Given the description of an element on the screen output the (x, y) to click on. 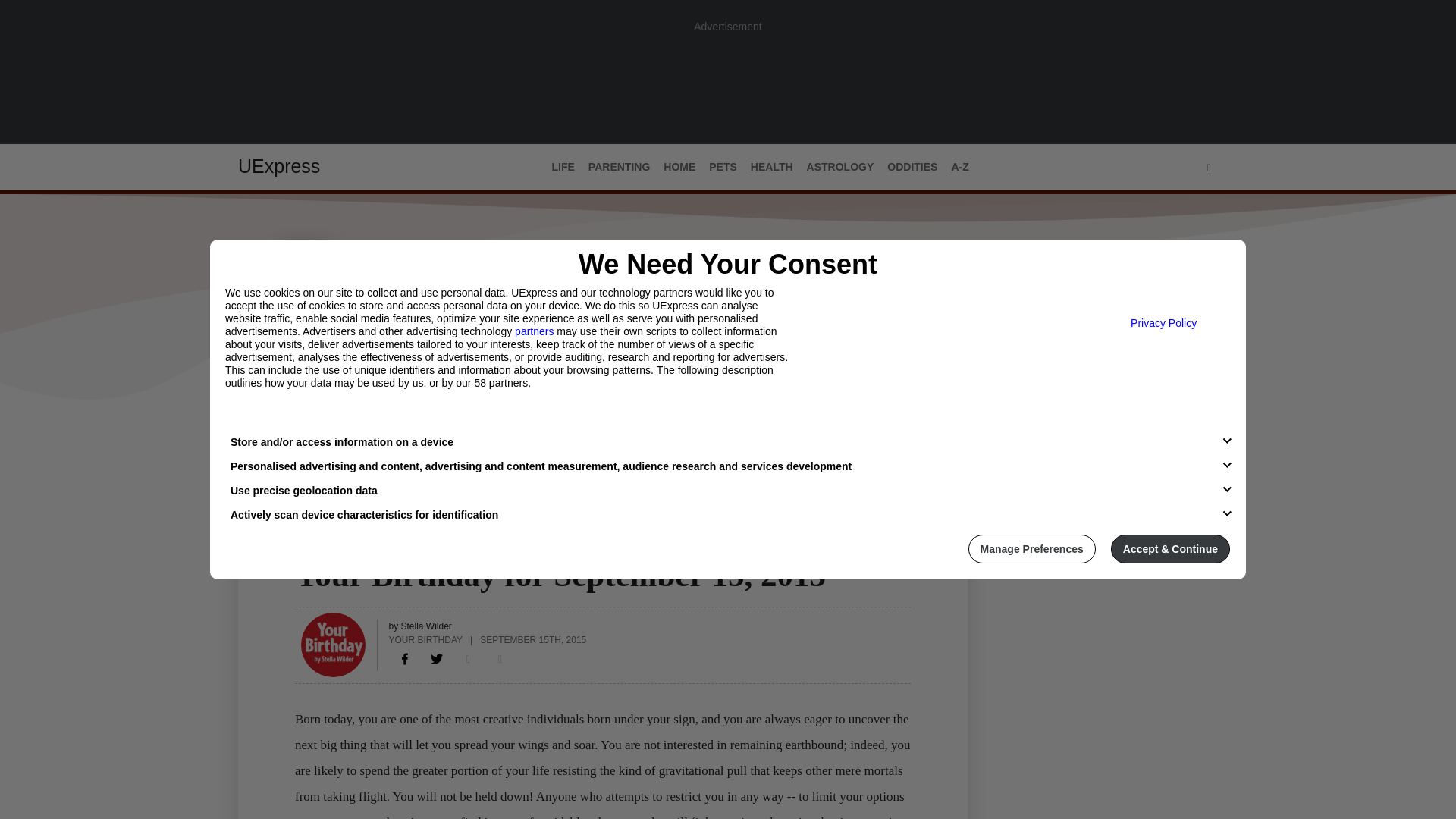
HOME (678, 166)
ASTROLOGY (839, 166)
YOUR BIRTHDAY (425, 639)
PARENTING (618, 166)
PETS (722, 166)
ASTROLOGY (328, 545)
Your Birthday for September 15, 2015 (404, 658)
UExpress (279, 166)
ODDITIES (911, 166)
Archives (371, 431)
LIFE (562, 166)
Latest (256, 431)
A-Z (959, 166)
About (309, 431)
HEALTH (771, 166)
